Given the description of an element on the screen output the (x, y) to click on. 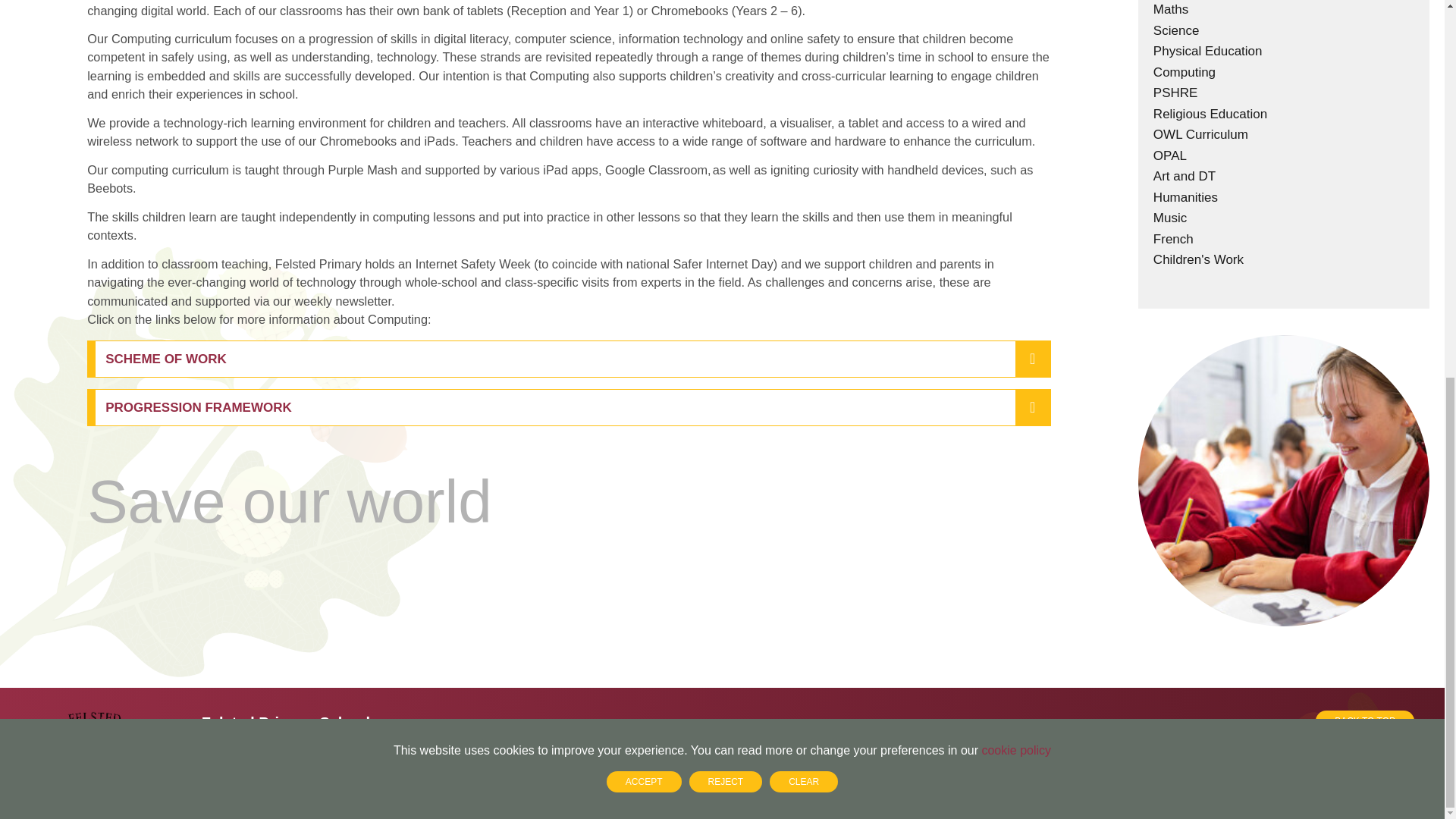
BACK TO TOP (1117, 725)
